Given the description of an element on the screen output the (x, y) to click on. 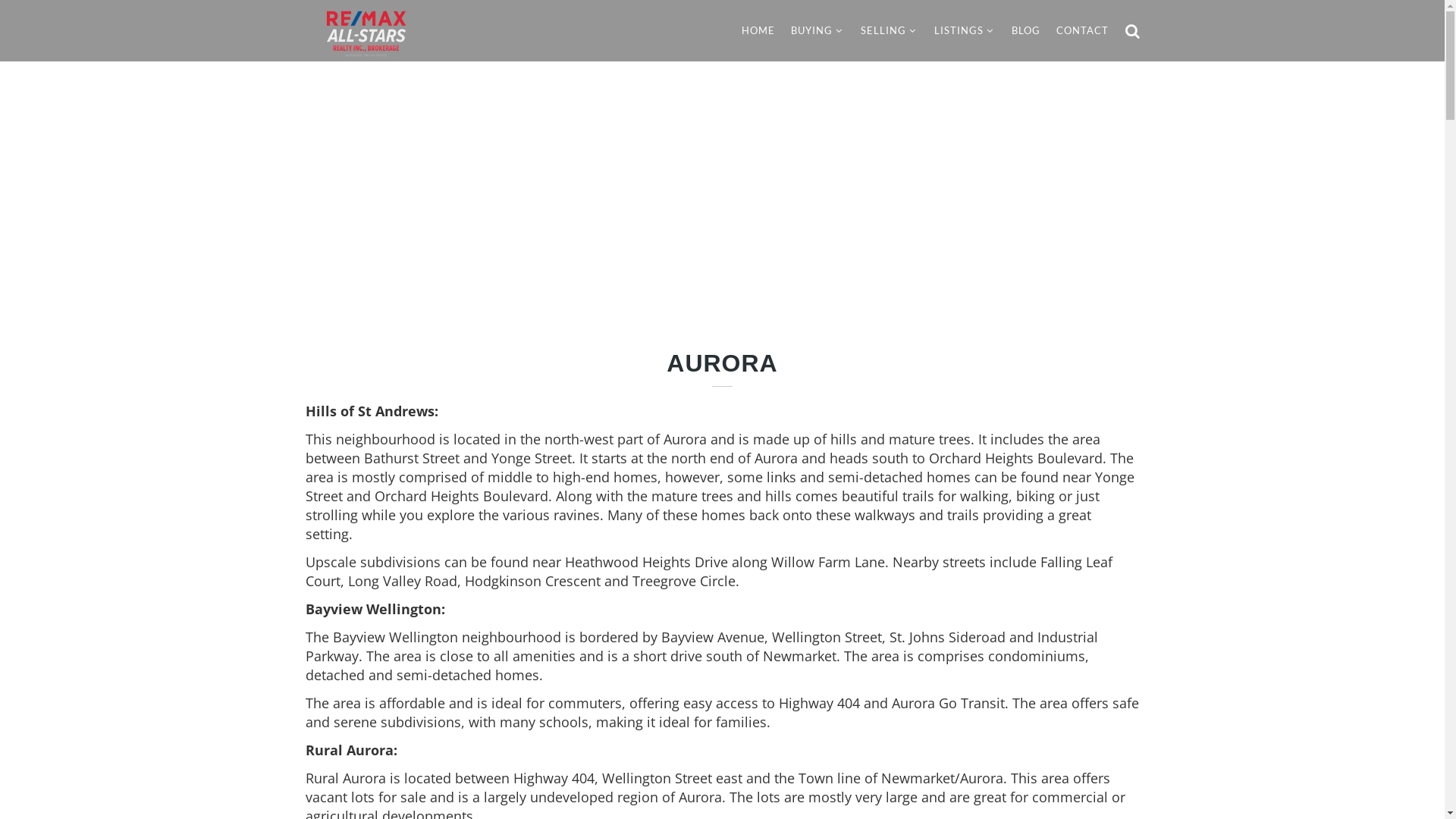
BLOG Element type: text (1026, 30)
CONTACT Element type: text (1081, 30)
HOME Element type: text (758, 30)
SELLING Element type: text (888, 30)
BUYING Element type: text (816, 30)
LISTINGS Element type: text (964, 30)
